Given the description of an element on the screen output the (x, y) to click on. 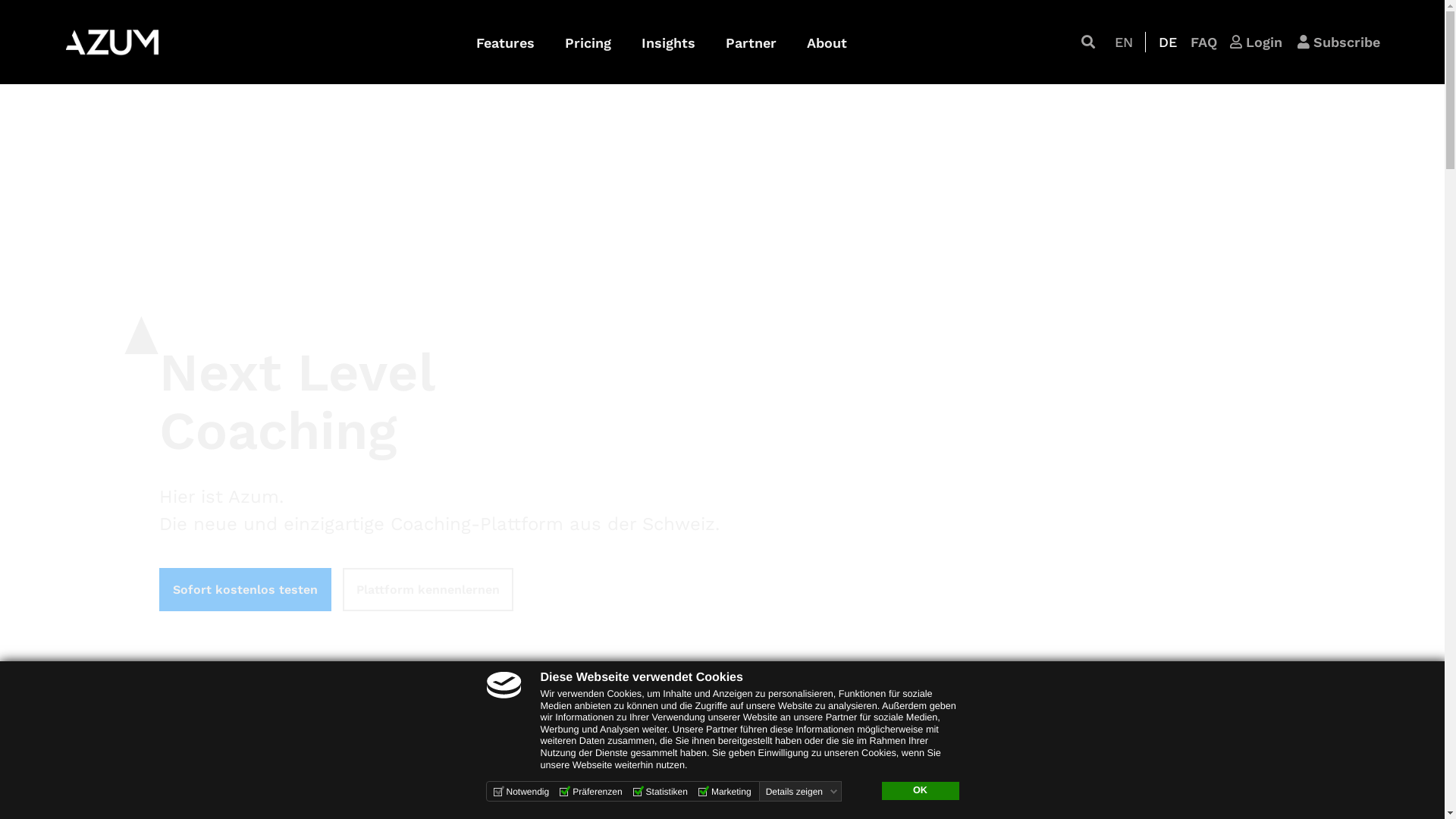
Sofort kostenlos testen Element type: text (245, 589)
Insights Element type: text (668, 42)
Details zeigen Element type: text (801, 791)
Features Element type: text (505, 42)
Partner Element type: text (750, 42)
FAQ Element type: text (1203, 41)
About Element type: text (826, 42)
Pricing Element type: text (587, 42)
Subscribe Element type: text (1338, 41)
OK Element type: text (919, 790)
DE Element type: text (1167, 42)
Plattform kennenlernen Element type: text (427, 589)
Login Element type: text (1255, 41)
EN Element type: text (1123, 42)
